Given the description of an element on the screen output the (x, y) to click on. 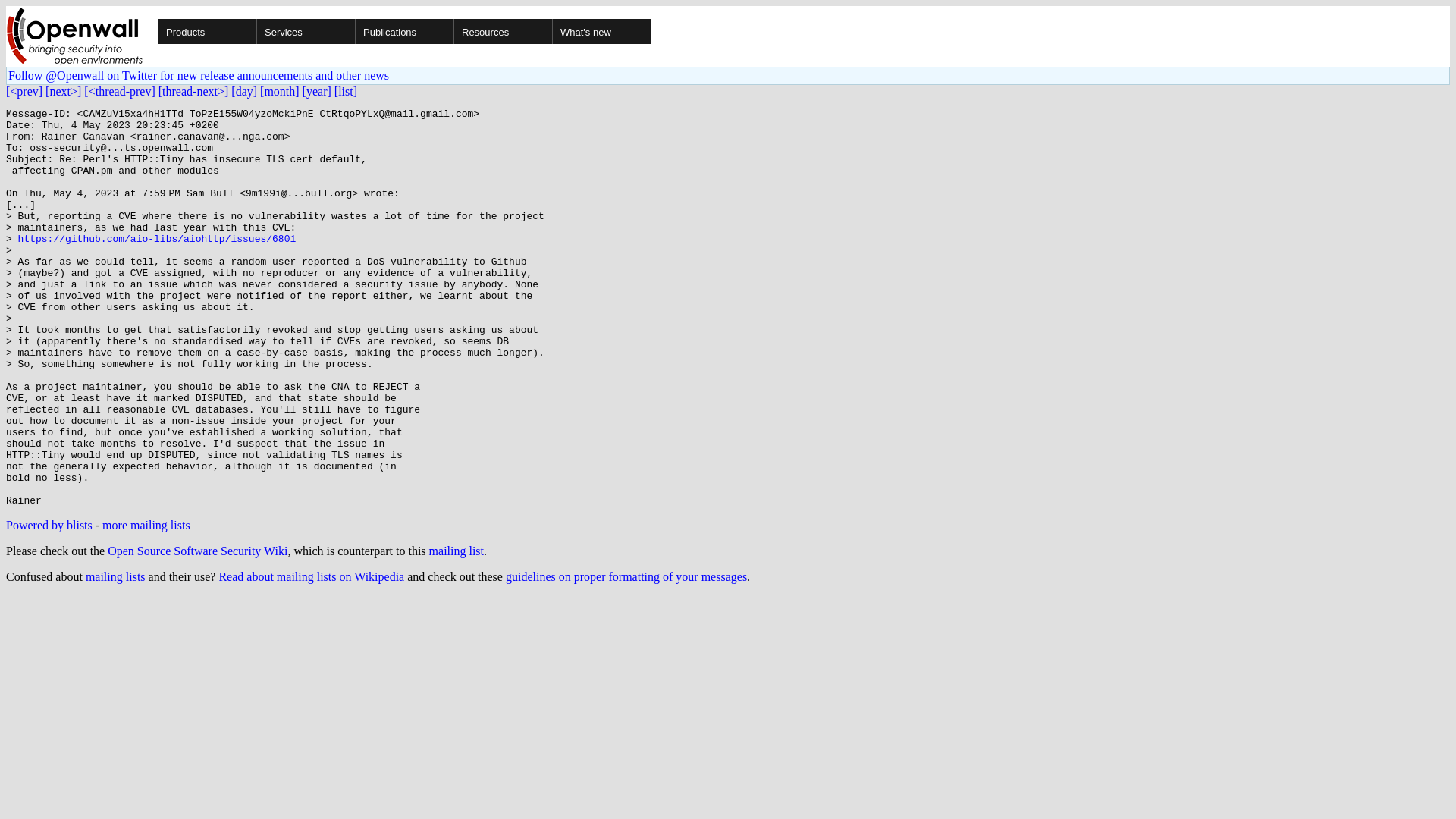
Products (254, 31)
Resources (549, 31)
Services (352, 31)
What's new (600, 31)
Publications (451, 31)
